Given the description of an element on the screen output the (x, y) to click on. 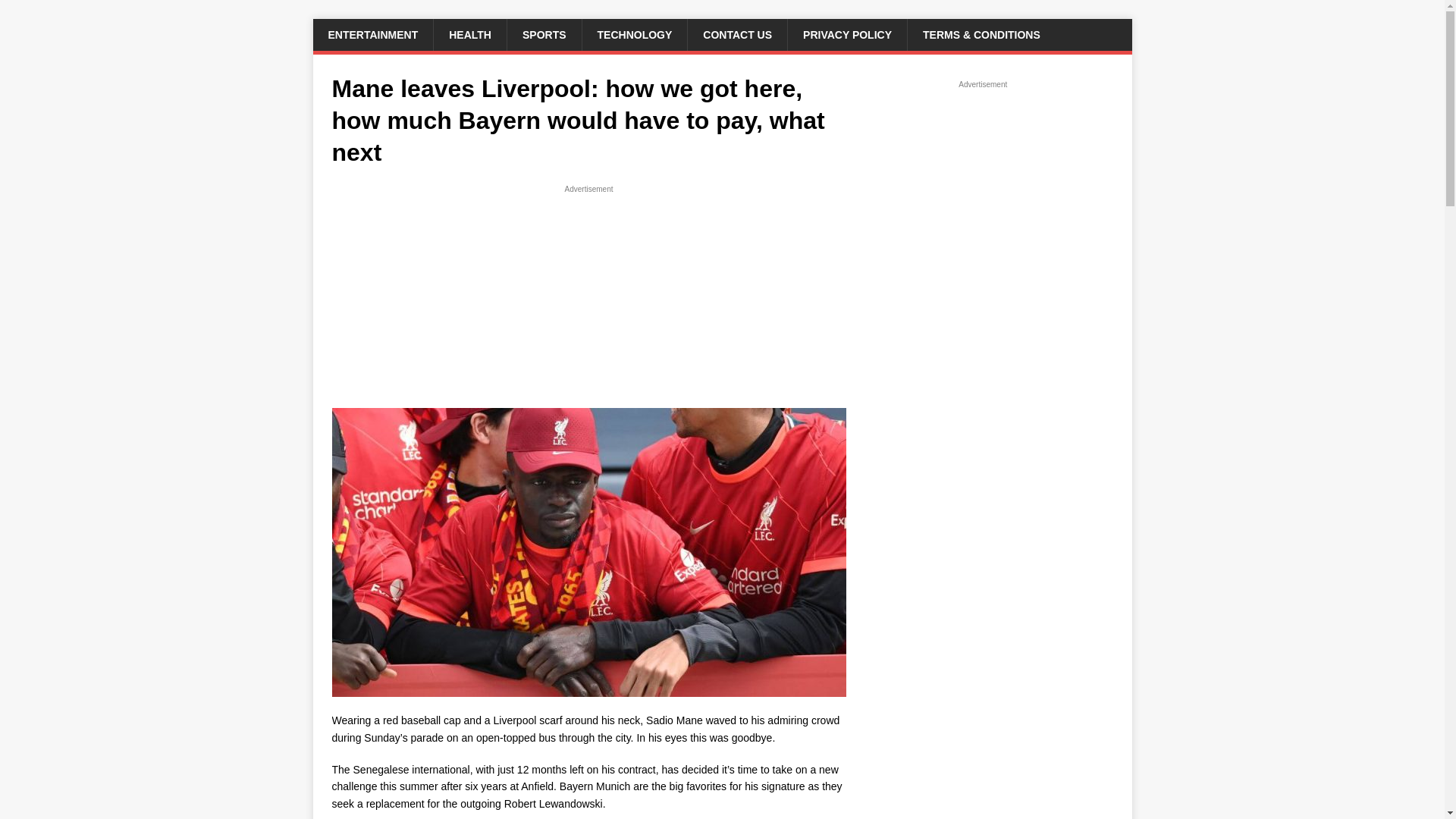
CONTACT US (737, 34)
Advertisement (588, 301)
TECHNOLOGY (633, 34)
SPORTS (543, 34)
ENTERTAINMENT (372, 34)
HEALTH (469, 34)
PRIVACY POLICY (847, 34)
